Given the description of an element on the screen output the (x, y) to click on. 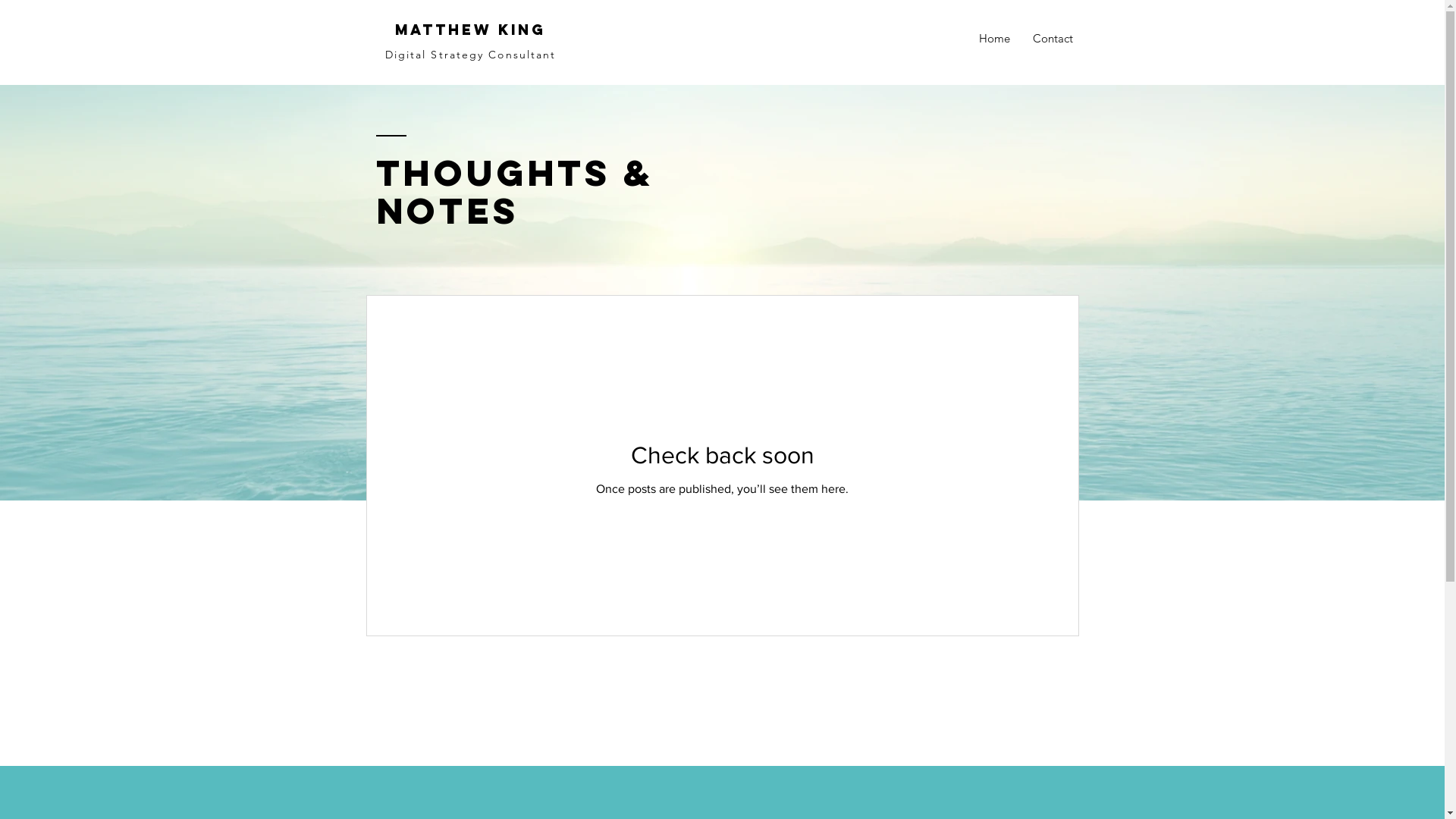
Matthew King Element type: text (470, 29)
Digital Strategy Consultant Element type: text (470, 54)
Home Element type: text (994, 38)
Contact Element type: text (1051, 38)
